Given the description of an element on the screen output the (x, y) to click on. 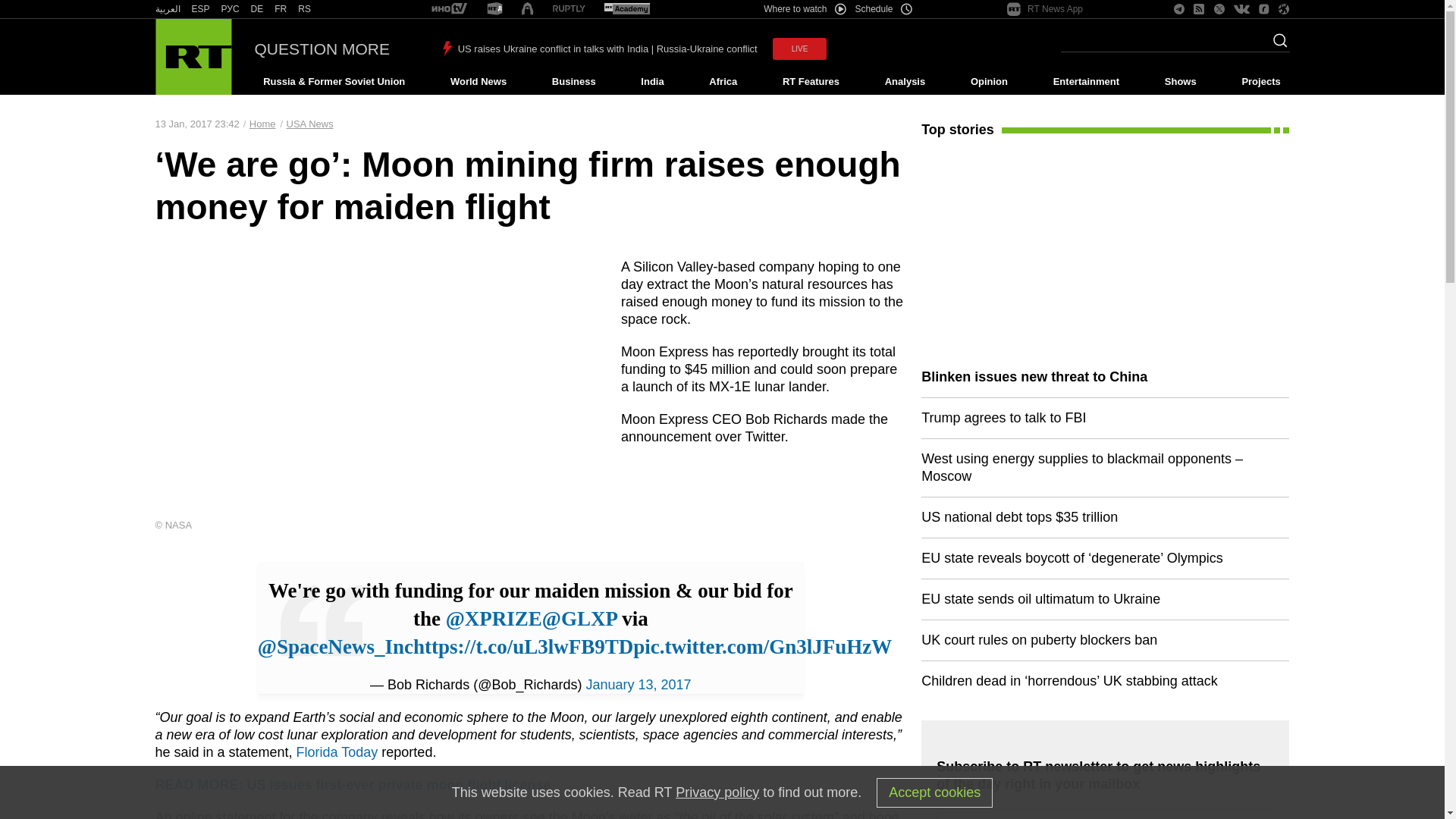
RT  (256, 9)
Analysis (905, 81)
Projects (1261, 81)
Opinion (988, 81)
RT  (626, 9)
DE (256, 9)
FR (280, 9)
RT  (230, 9)
Entertainment (1085, 81)
LIVE (800, 48)
RT  (199, 9)
Africa (722, 81)
RT  (494, 9)
RT Features (810, 81)
RT  (448, 9)
